Given the description of an element on the screen output the (x, y) to click on. 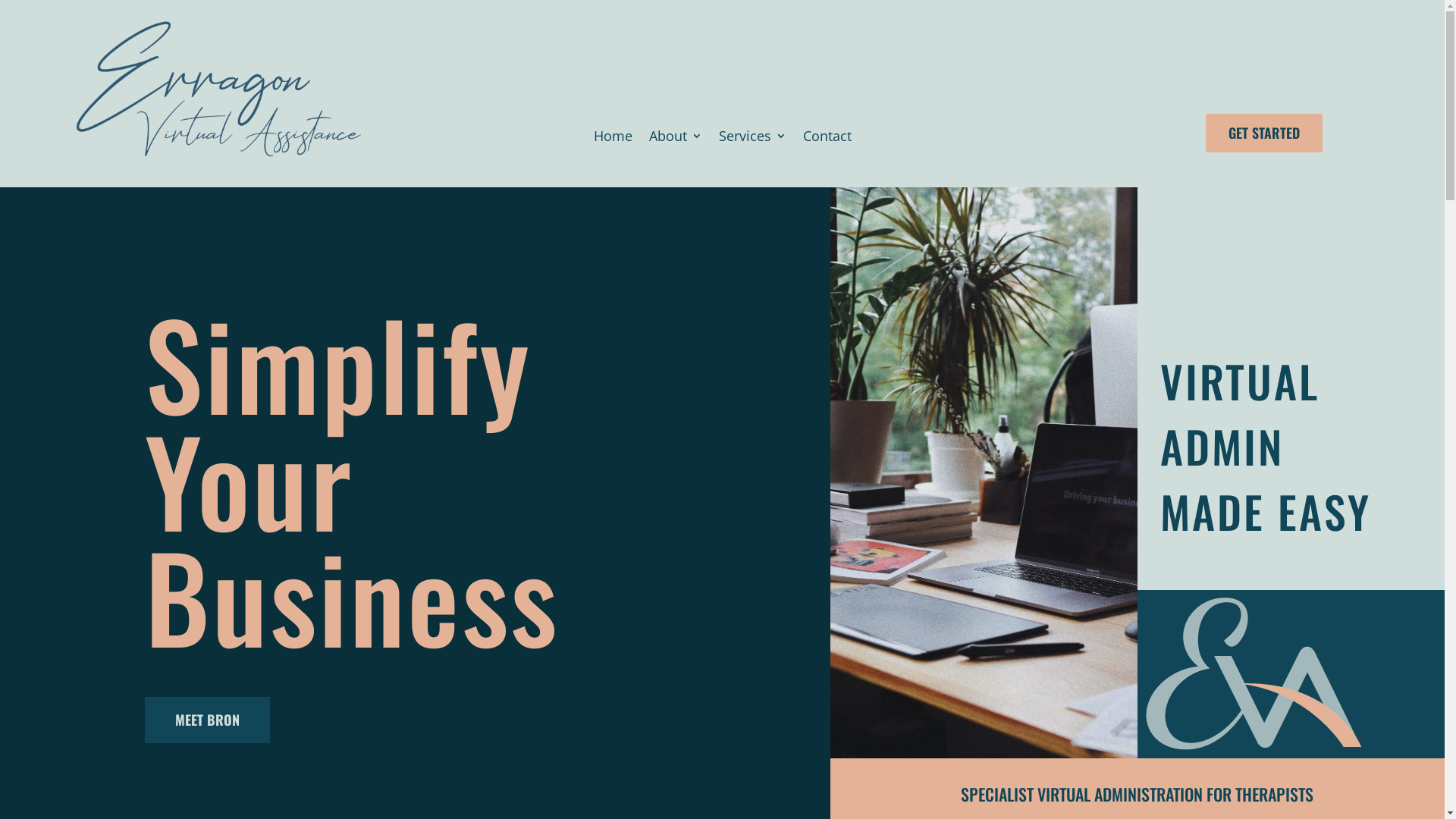
Erragon_Large Element type: hover (216, 93)
MEET BRON Element type: text (206, 719)
Home Element type: text (612, 138)
About Element type: text (675, 138)
Contact Element type: text (826, 138)
GET STARTED Element type: text (1263, 132)
Services Element type: text (752, 138)
Logo-11x8-Light (2021_08_26 03_06_37 UTC) Element type: hover (1252, 673)
